Given the description of an element on the screen output the (x, y) to click on. 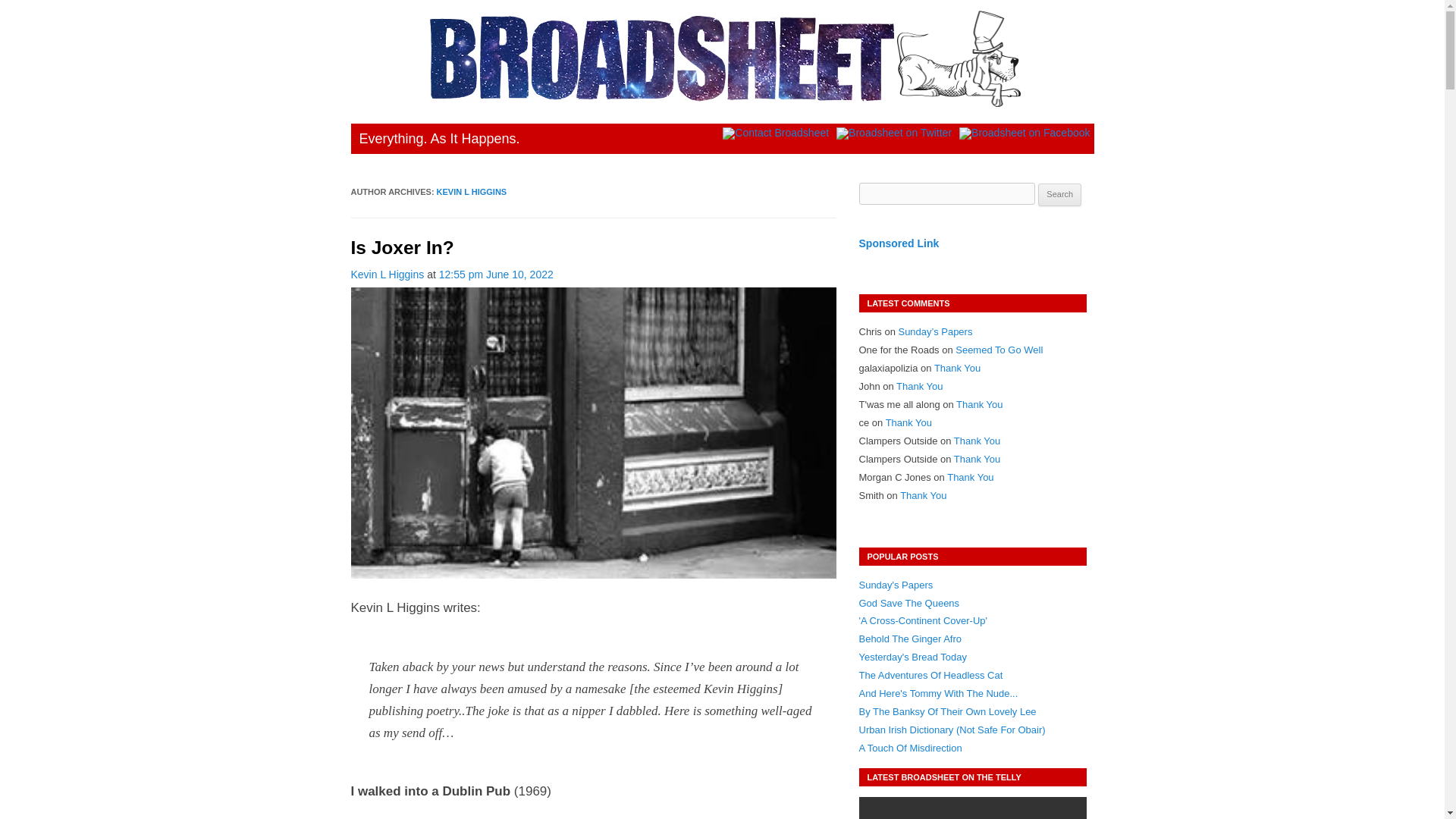
KEVIN L HIGGINS (471, 191)
Kevin L Higgins (386, 274)
12:55 pm (496, 274)
View all posts by Kevin L Higgins (386, 274)
Is Joxer In? (401, 247)
12:55 pm June 10, 2022 (496, 274)
